Given the description of an element on the screen output the (x, y) to click on. 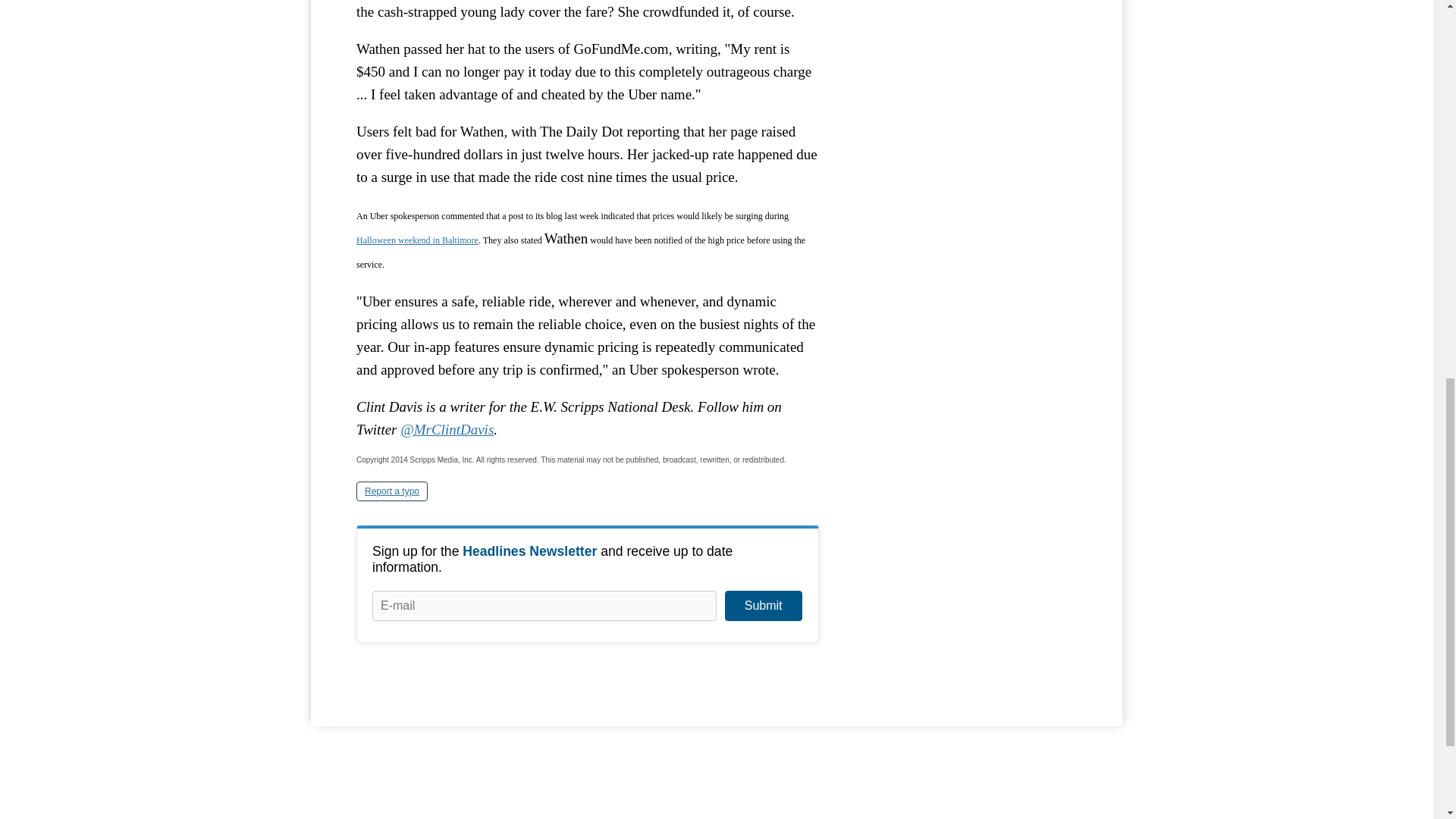
Submit (763, 605)
